Given the description of an element on the screen output the (x, y) to click on. 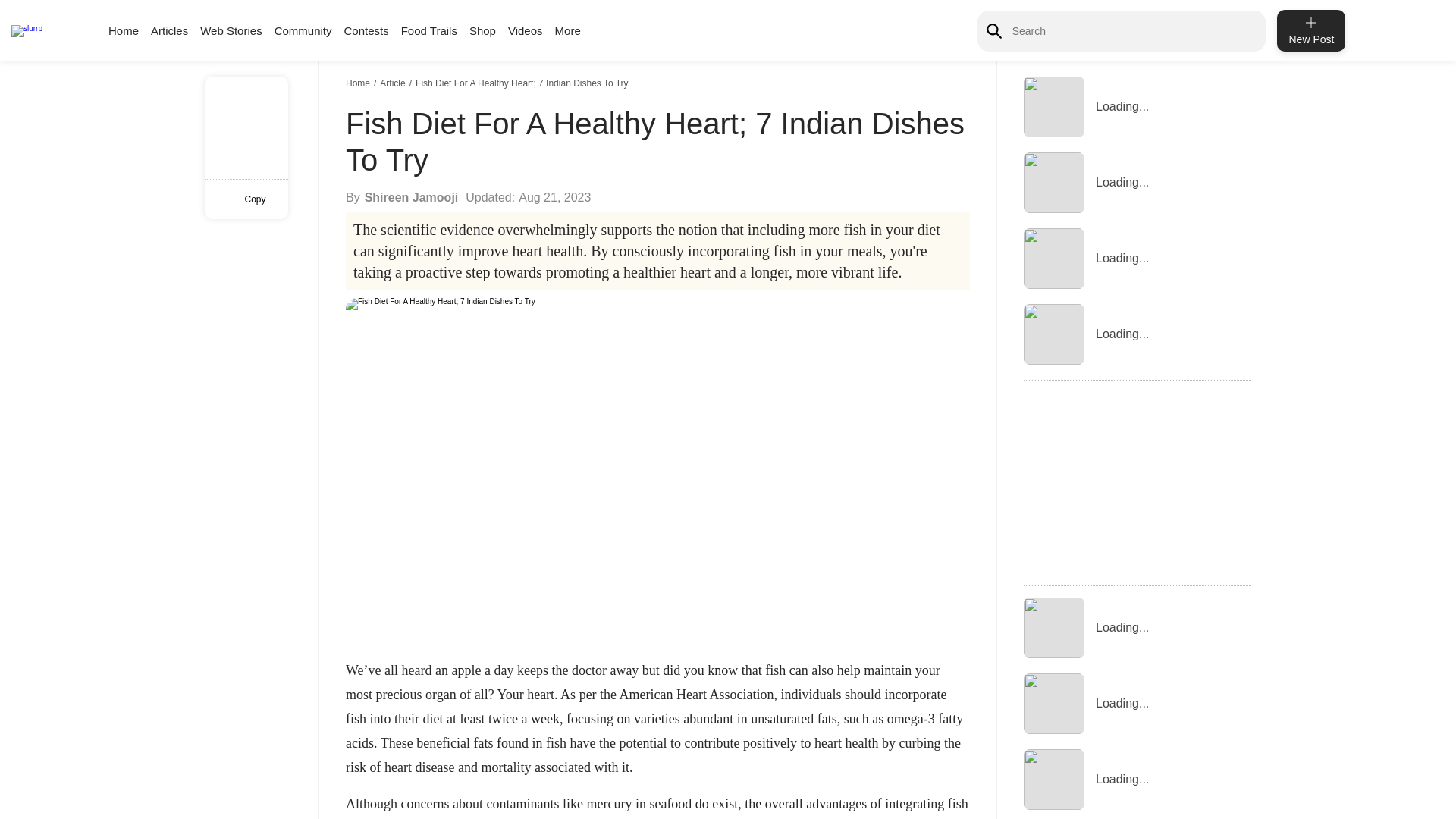
Shop (482, 30)
Web Stories (231, 30)
Home (122, 30)
Community (303, 30)
New Post (1310, 30)
Contests (365, 30)
Food Trails (429, 30)
Videos (525, 30)
Article (394, 82)
Home (360, 82)
